Given the description of an element on the screen output the (x, y) to click on. 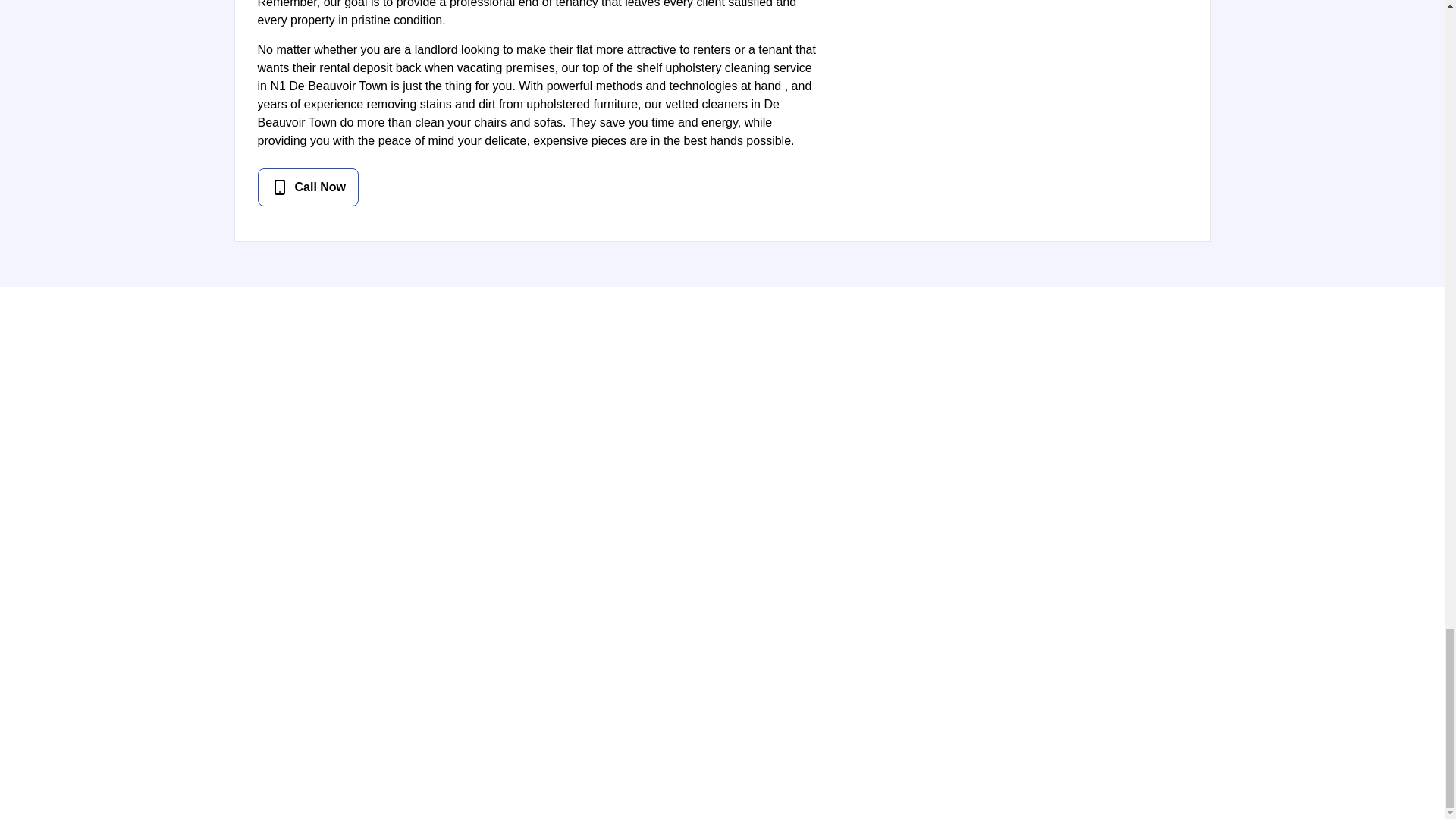
Call Now (308, 187)
Call Now (537, 187)
